Given the description of an element on the screen output the (x, y) to click on. 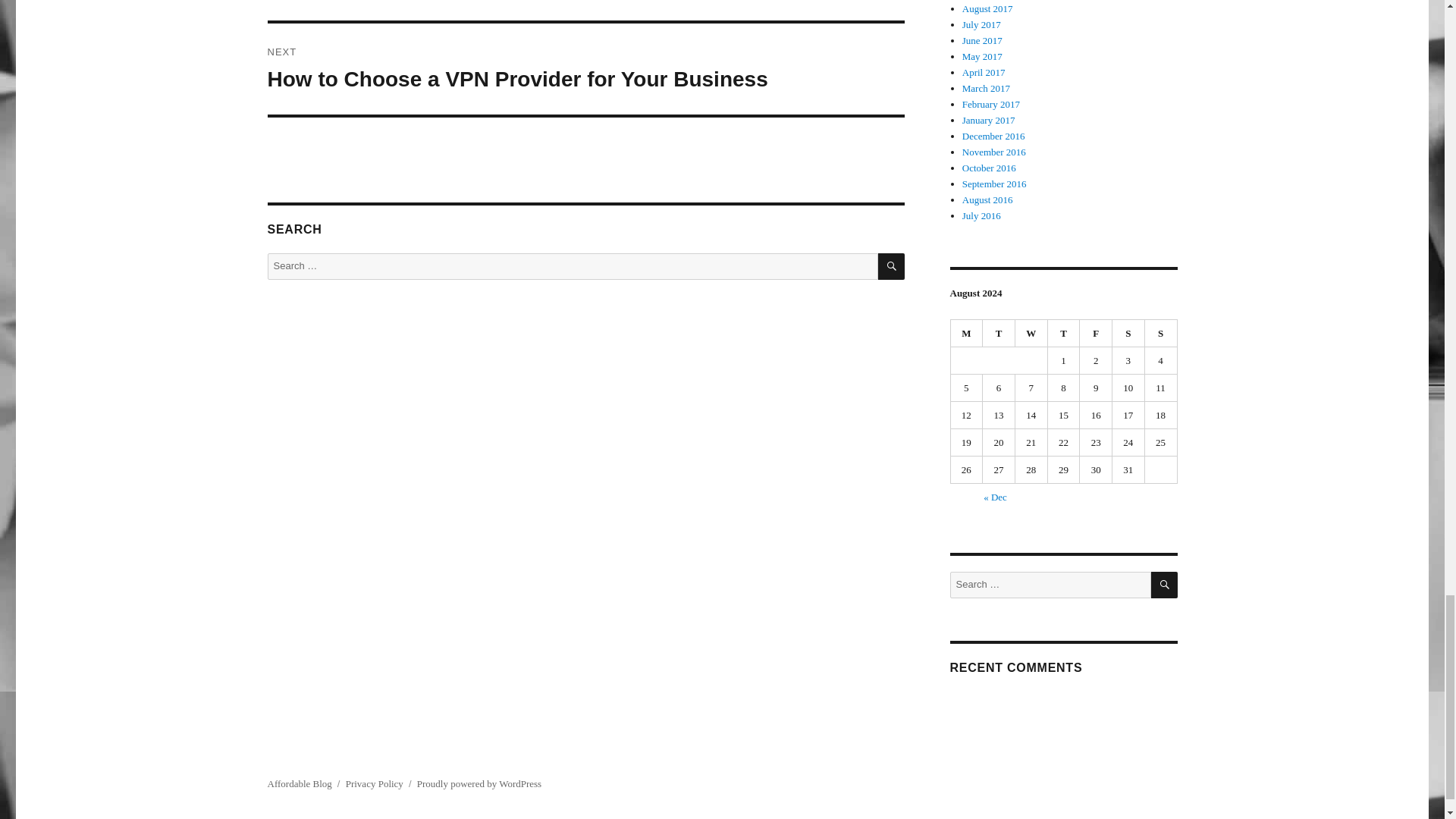
SEARCH (890, 266)
Monday (967, 333)
Tuesday (998, 333)
Saturday (1128, 333)
Friday (1096, 333)
Wednesday (1031, 333)
Sunday (1160, 333)
Thursday (1064, 333)
